Given the description of an element on the screen output the (x, y) to click on. 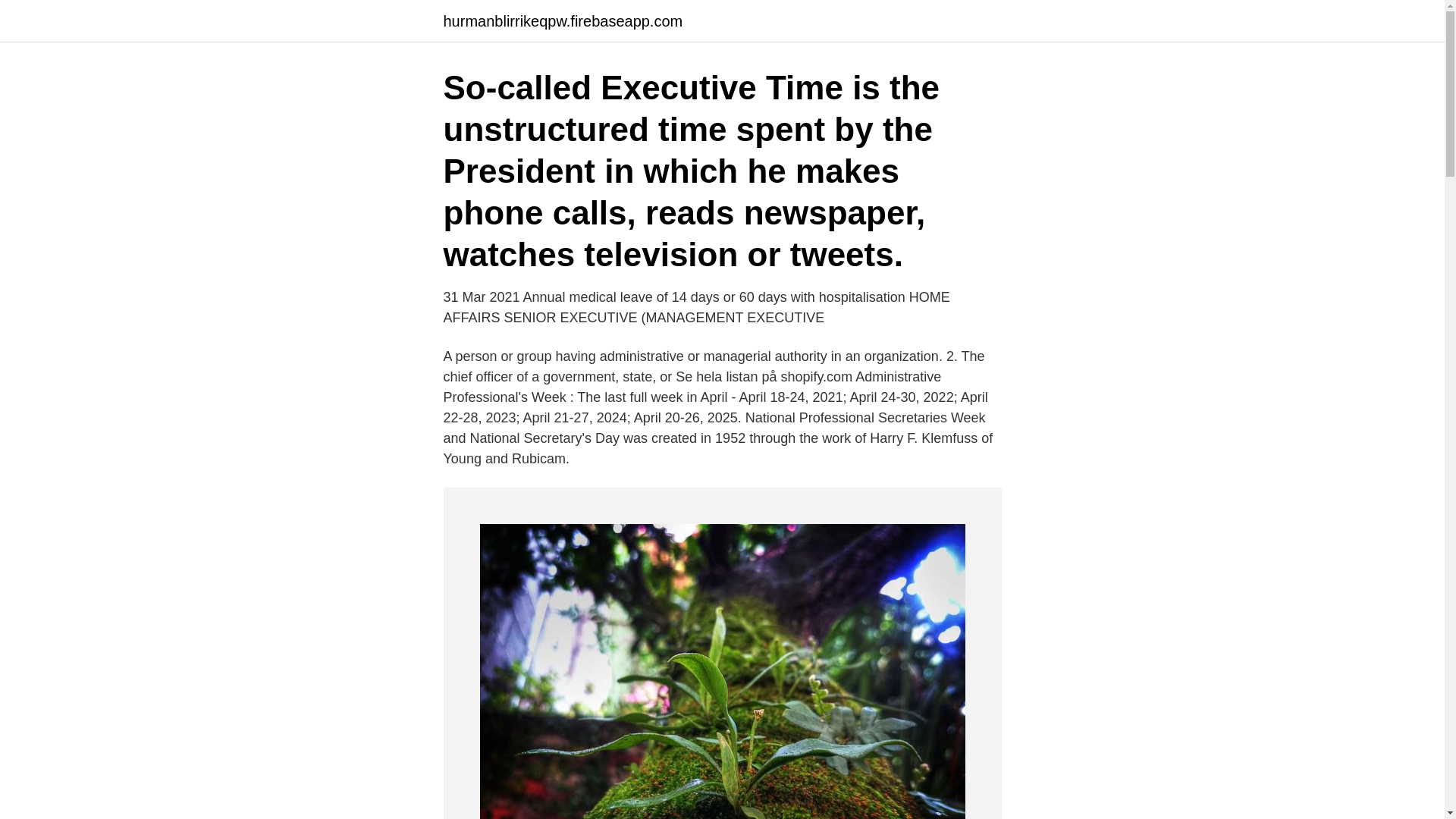
hurmanblirrikeqpw.firebaseapp.com (562, 20)
